Given the description of an element on the screen output the (x, y) to click on. 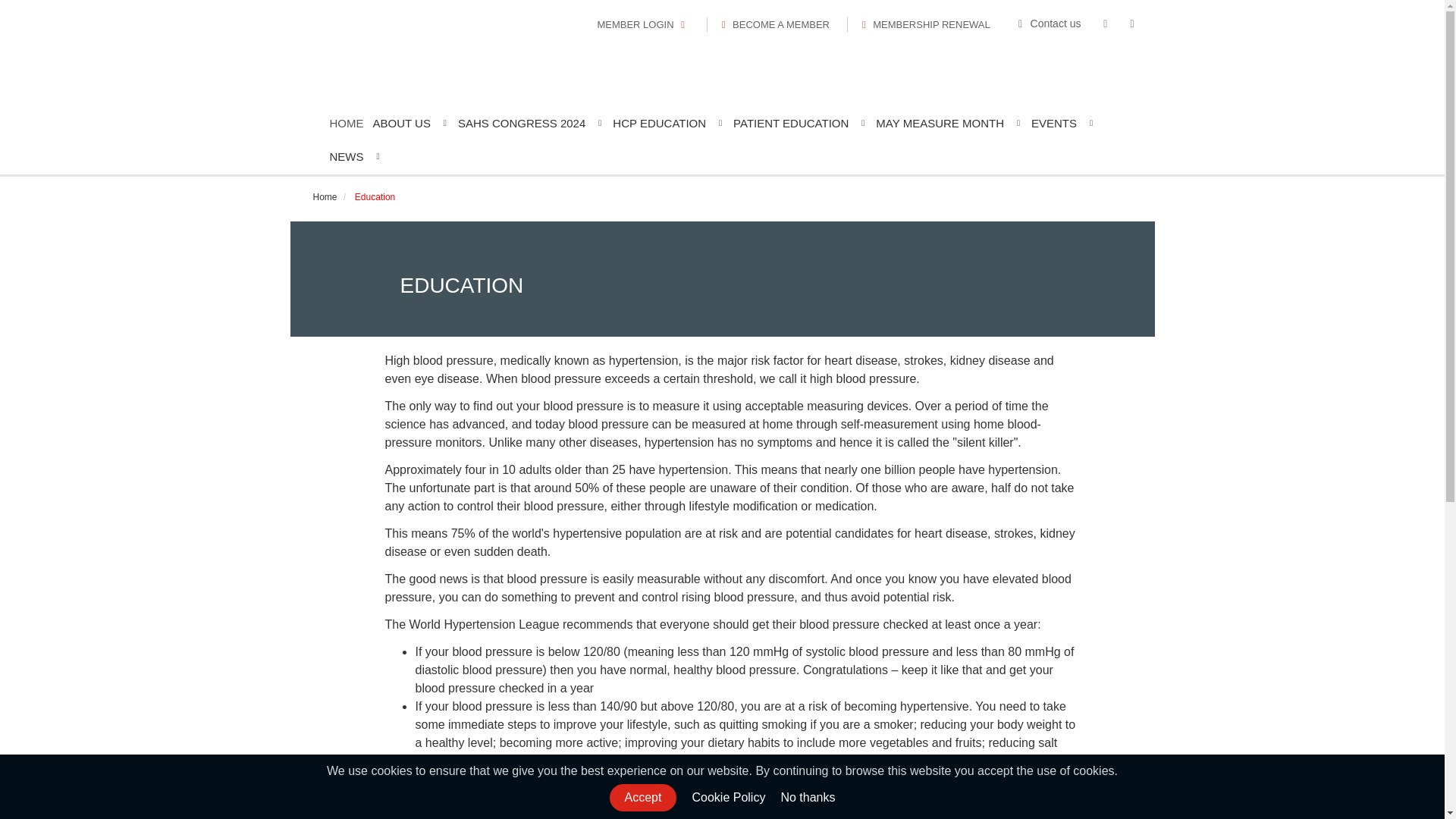
HOME (346, 123)
MEMBERSHIP RENEWAL (924, 24)
Contact us (1049, 23)
HCP EDUCATION (668, 123)
BECOME A MEMBER (773, 24)
PATIENT EDUCATION (799, 123)
MEMBER LOGIN (642, 24)
ABOUT US (410, 123)
Go to Google search engine. (807, 797)
SAHS CONGRESS 2024 (530, 123)
